Given the description of an element on the screen output the (x, y) to click on. 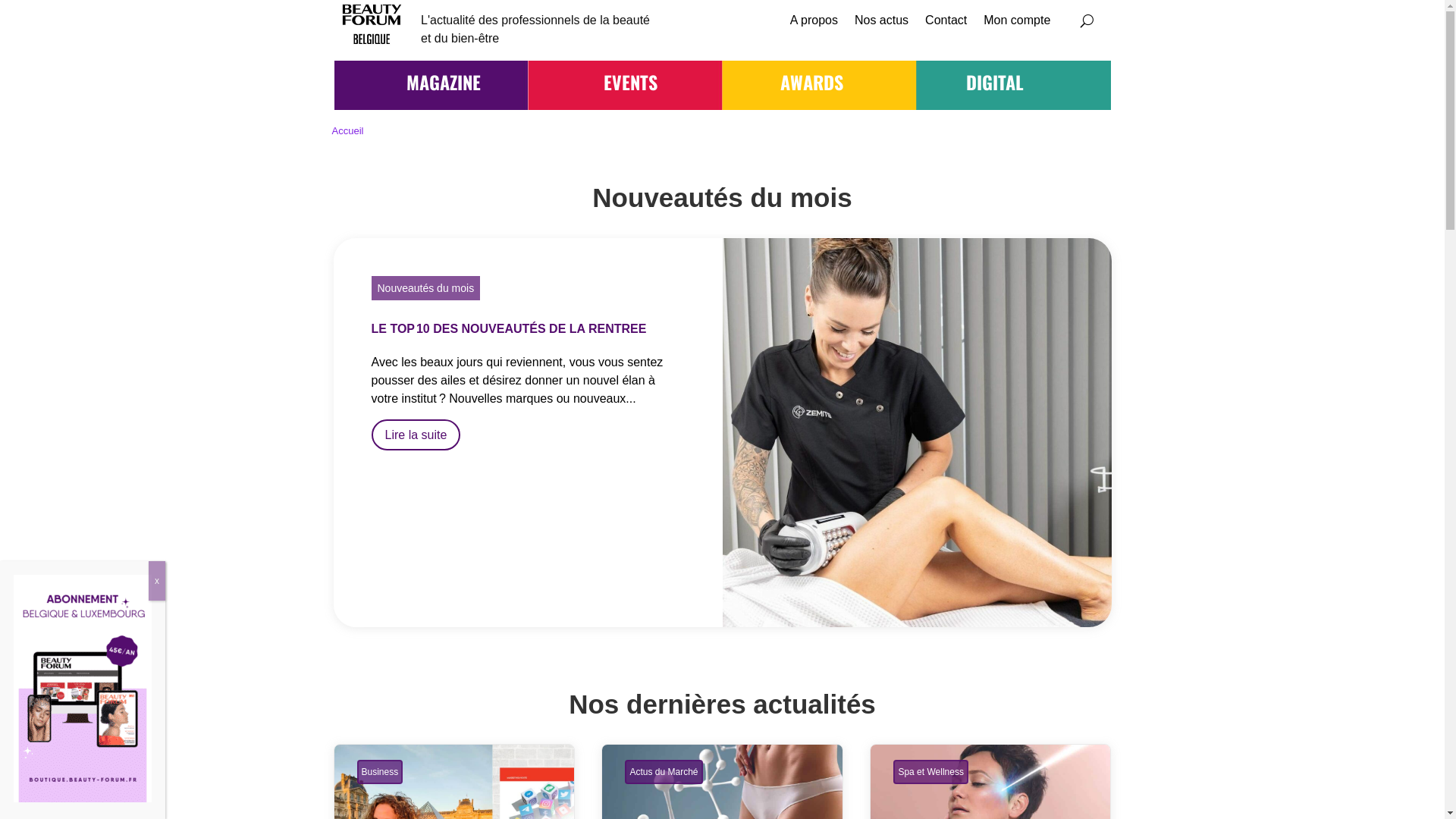
A propos Element type: text (813, 23)
Contact Element type: text (945, 23)
Logo Beauty Forum Belgique Element type: hover (371, 24)
Nos actus Element type: text (881, 23)
EVENTS Element type: text (630, 81)
x Element type: text (156, 580)
AWARDS Element type: text (810, 81)
Accueil Element type: text (347, 130)
Lire la suite Element type: text (416, 434)
Business Element type: text (379, 771)
DIGITAL Element type: text (994, 81)
Mon compte Element type: text (1016, 23)
MAGAZINE Element type: text (443, 81)
Spa et Wellness Element type: text (930, 771)
